Given the description of an element on the screen output the (x, y) to click on. 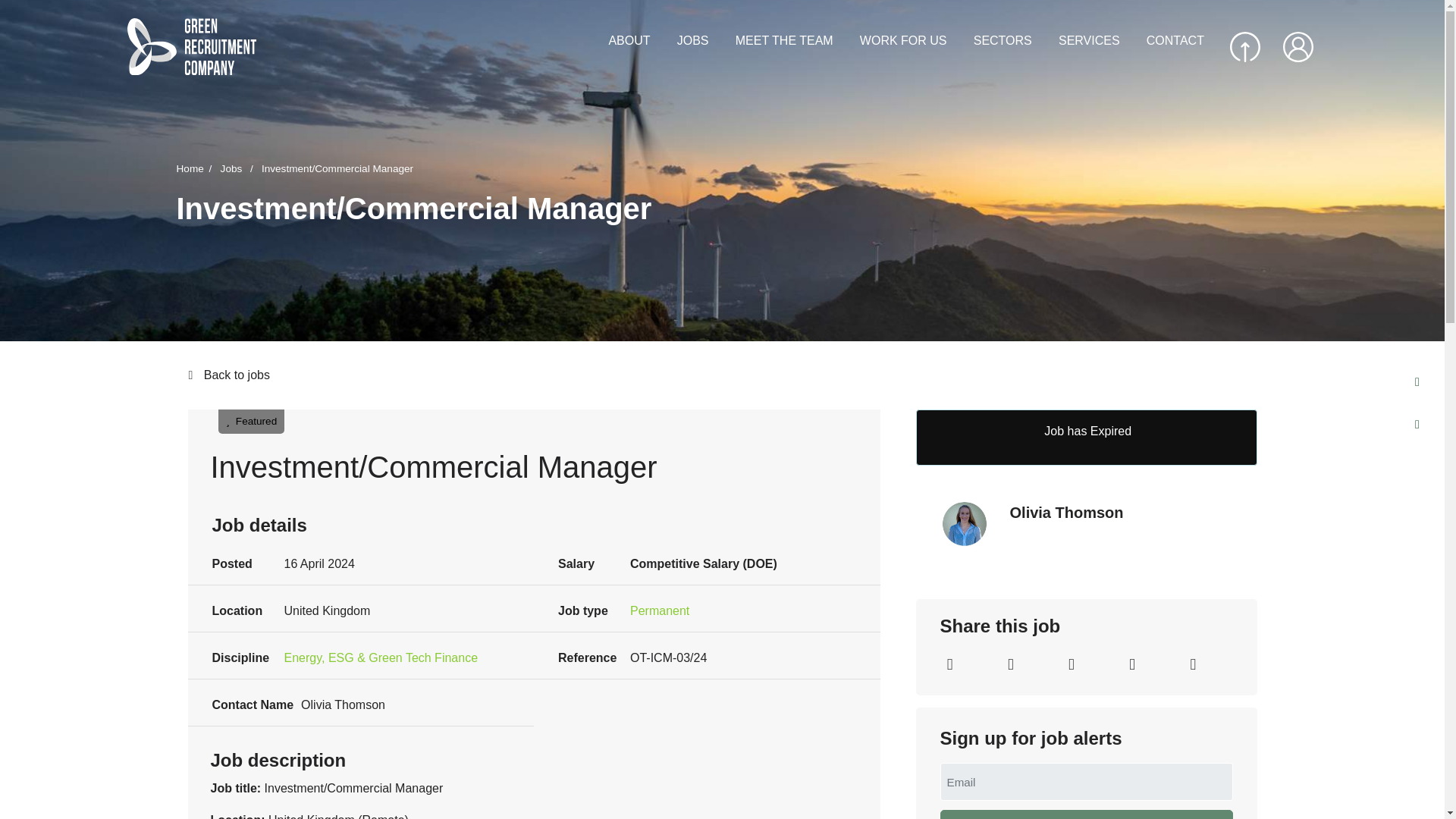
Back to jobs (721, 374)
SECTORS (1003, 40)
MEET THE TEAM (783, 40)
SERVICES (1088, 40)
Upload CV (1245, 46)
Permanent (659, 610)
Home (196, 168)
ABOUT (628, 40)
JOBS (693, 40)
Olivia Thomson (1124, 512)
